Given the description of an element on the screen output the (x, y) to click on. 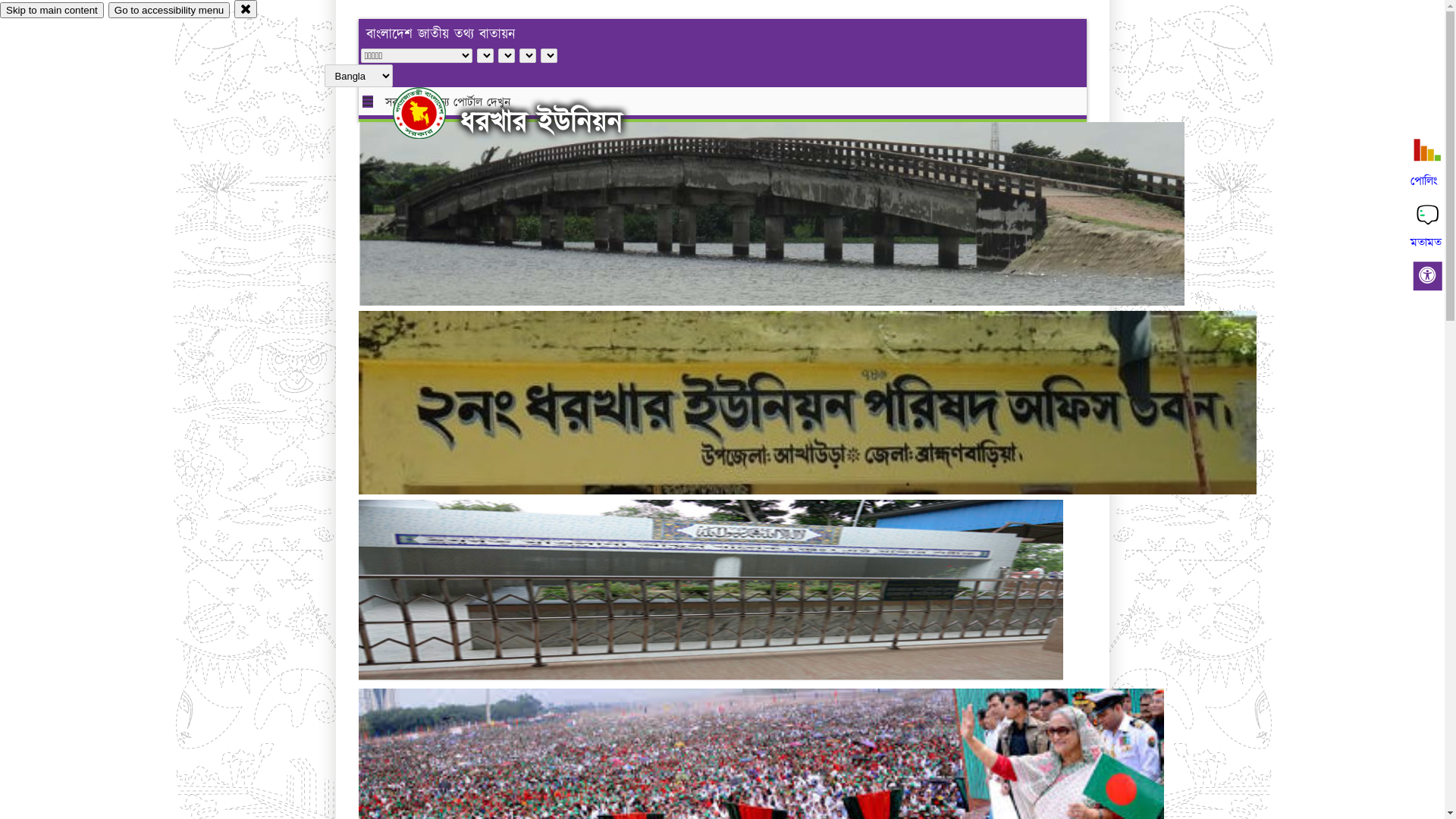
close Element type: hover (245, 9)

                
             Element type: hover (431, 112)
Go to accessibility menu Element type: text (168, 10)
Skip to main content Element type: text (51, 10)
